Given the description of an element on the screen output the (x, y) to click on. 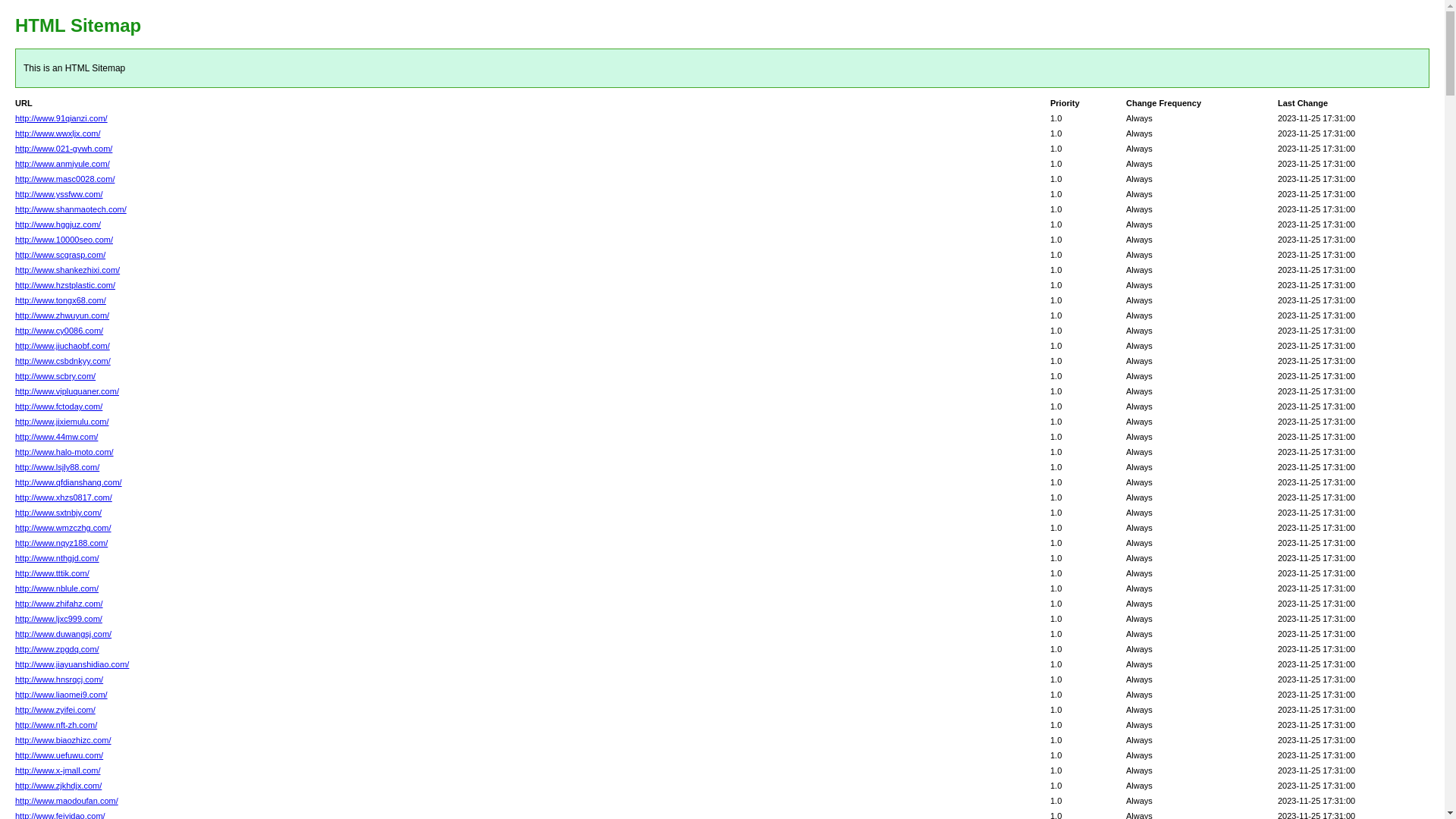
http://www.zyifei.com/ Element type: text (55, 709)
http://www.hzstplastic.com/ Element type: text (65, 284)
http://www.yssfww.com/ Element type: text (59, 193)
http://www.91qianzi.com/ Element type: text (61, 117)
http://www.xhzs0817.com/ Element type: text (63, 497)
http://www.liaomei9.com/ Element type: text (61, 694)
http://www.10000seo.com/ Element type: text (63, 239)
http://www.scbry.com/ Element type: text (55, 375)
http://www.zjkhdjx.com/ Element type: text (58, 785)
http://www.ljxc999.com/ Element type: text (58, 618)
http://www.maodoufan.com/ Element type: text (66, 800)
http://www.nqyz188.com/ Element type: text (61, 542)
http://www.jiuchaobf.com/ Element type: text (62, 345)
http://www.shanmaotech.com/ Element type: text (70, 208)
http://www.vipluquaner.com/ Element type: text (67, 390)
http://www.masc0028.com/ Element type: text (64, 178)
http://www.wwxljx.com/ Element type: text (57, 133)
http://www.nblule.com/ Element type: text (56, 588)
http://www.hggjuz.com/ Element type: text (57, 224)
http://www.x-jmall.com/ Element type: text (57, 770)
http://www.jixiemulu.com/ Element type: text (61, 421)
http://www.sxtnbjy.com/ Element type: text (58, 512)
http://www.qfdianshang.com/ Element type: text (68, 481)
http://www.anmiyule.com/ Element type: text (62, 163)
http://www.fctoday.com/ Element type: text (58, 406)
http://www.zhwuyun.com/ Element type: text (62, 315)
http://www.wmzczhg.com/ Element type: text (63, 527)
http://www.zhifahz.com/ Element type: text (59, 603)
http://www.nthgjd.com/ Element type: text (57, 557)
http://www.biaozhizc.com/ Element type: text (63, 739)
http://www.cy0086.com/ Element type: text (59, 330)
http://www.zpgdq.com/ Element type: text (57, 648)
http://www.hnsrqcj.com/ Element type: text (59, 679)
http://www.tttik.com/ Element type: text (52, 572)
http://www.tongx68.com/ Element type: text (60, 299)
http://www.44mw.com/ Element type: text (56, 436)
http://www.duwangsj.com/ Element type: text (63, 633)
http://www.scgrasp.com/ Element type: text (60, 254)
http://www.021-gywh.com/ Element type: text (63, 148)
http://www.halo-moto.com/ Element type: text (64, 451)
http://www.lsjly88.com/ Element type: text (57, 466)
http://www.uefuwu.com/ Element type: text (59, 754)
http://www.nft-zh.com/ Element type: text (56, 724)
http://www.csbdnkyy.com/ Element type: text (62, 360)
http://www.jiayuanshidiao.com/ Element type: text (71, 663)
http://www.shankezhixi.com/ Element type: text (67, 269)
